Given the description of an element on the screen output the (x, y) to click on. 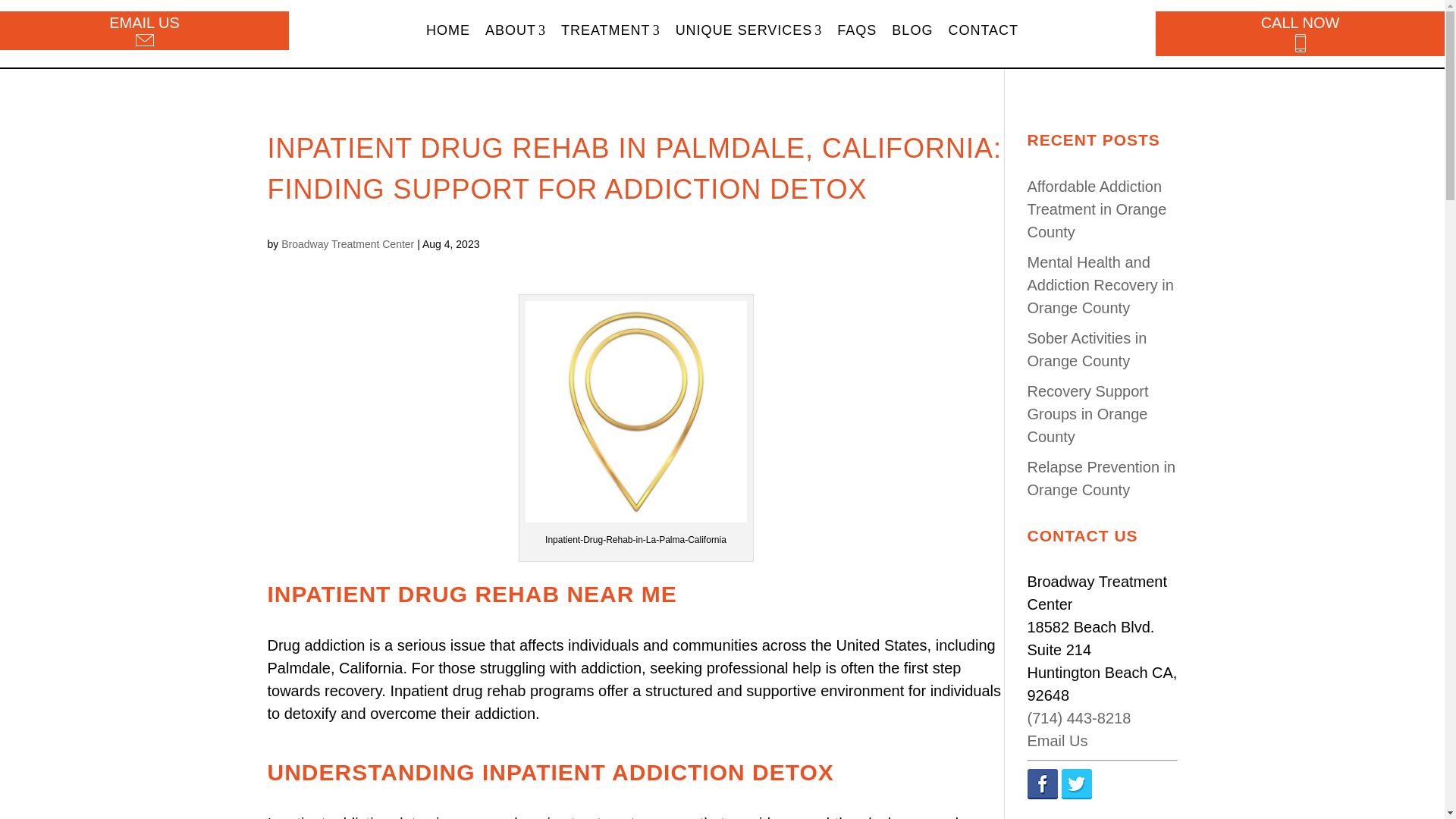
HOME (448, 30)
UNIQUE SERVICES (748, 30)
ABOUT (515, 30)
TREATMENT (610, 30)
EMAIL US (144, 31)
Posts by Broadway Treatment Center (347, 244)
